Given the description of an element on the screen output the (x, y) to click on. 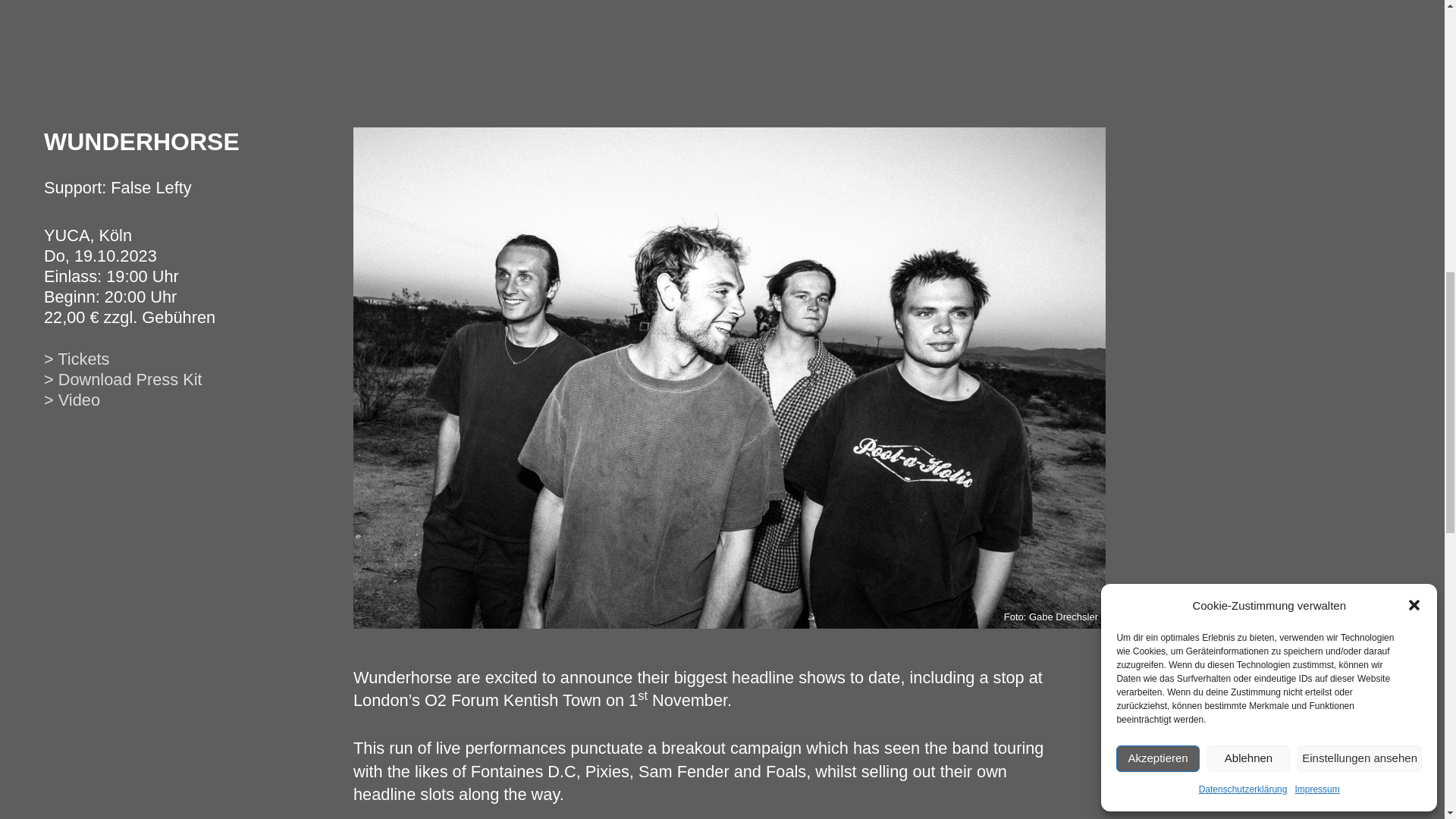
Tickets kaufen - WUNDERHORSE - Externer Link (76, 358)
